Given the description of an element on the screen output the (x, y) to click on. 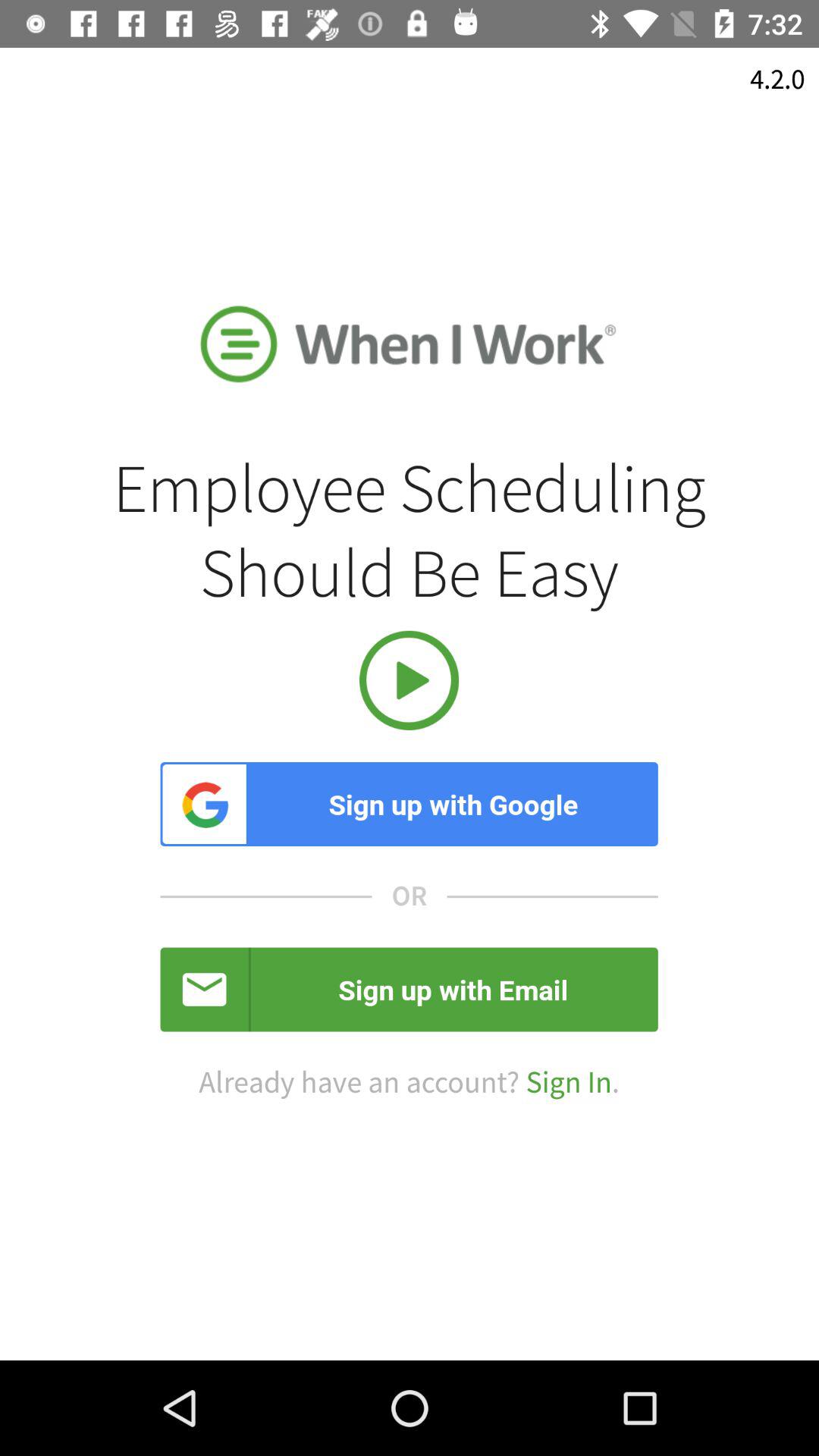
login to app (408, 680)
